Given the description of an element on the screen output the (x, y) to click on. 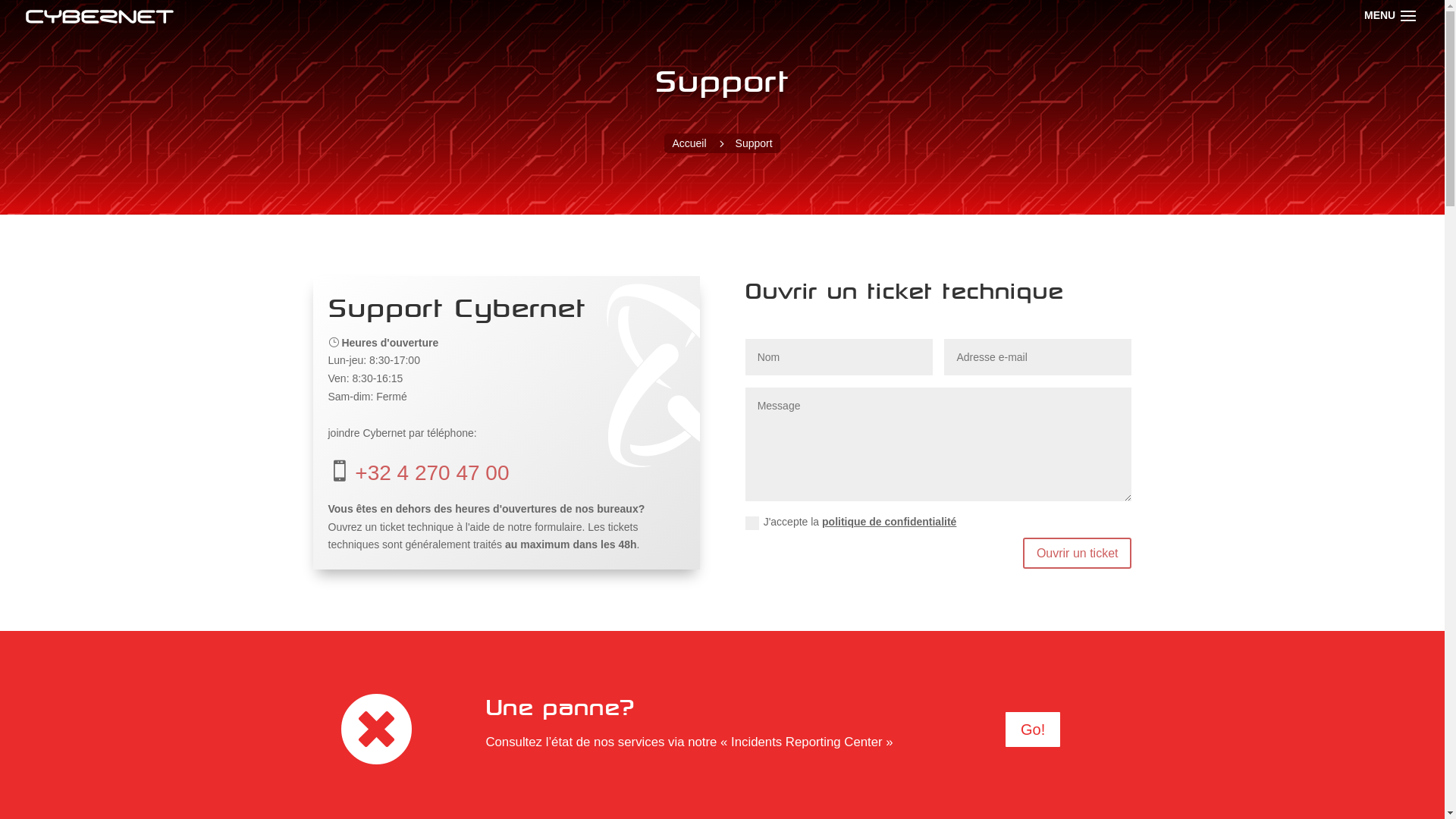
Accueil Element type: text (688, 143)
+32 4 270 47 00 Element type: text (431, 472)
Ouvrir un ticket Element type: text (1077, 552)
Go! Element type: text (1032, 729)
